Given the description of an element on the screen output the (x, y) to click on. 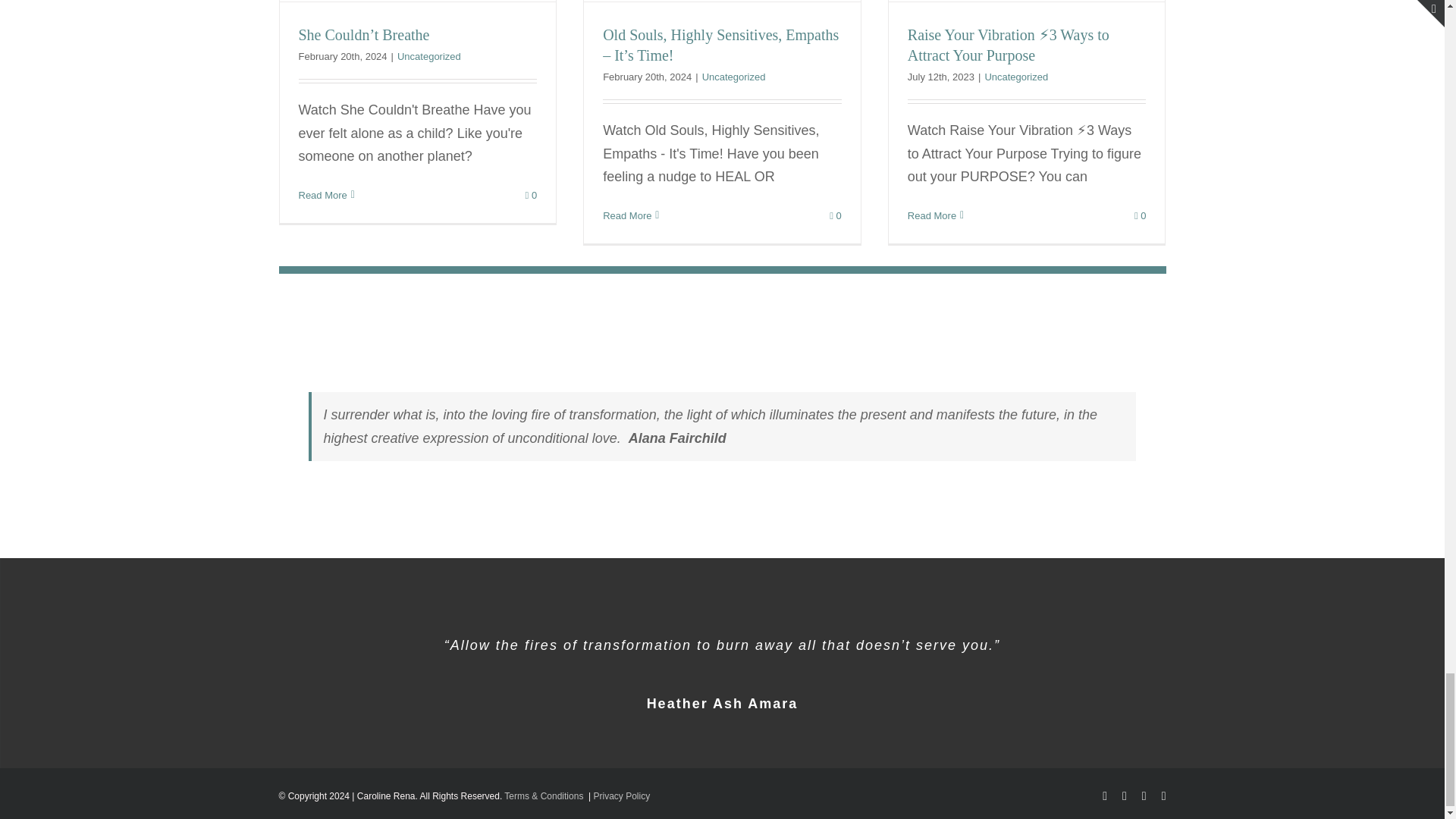
 0 (531, 194)
Uncategorized (733, 76)
Uncategorized (429, 56)
Read More (322, 194)
